Given the description of an element on the screen output the (x, y) to click on. 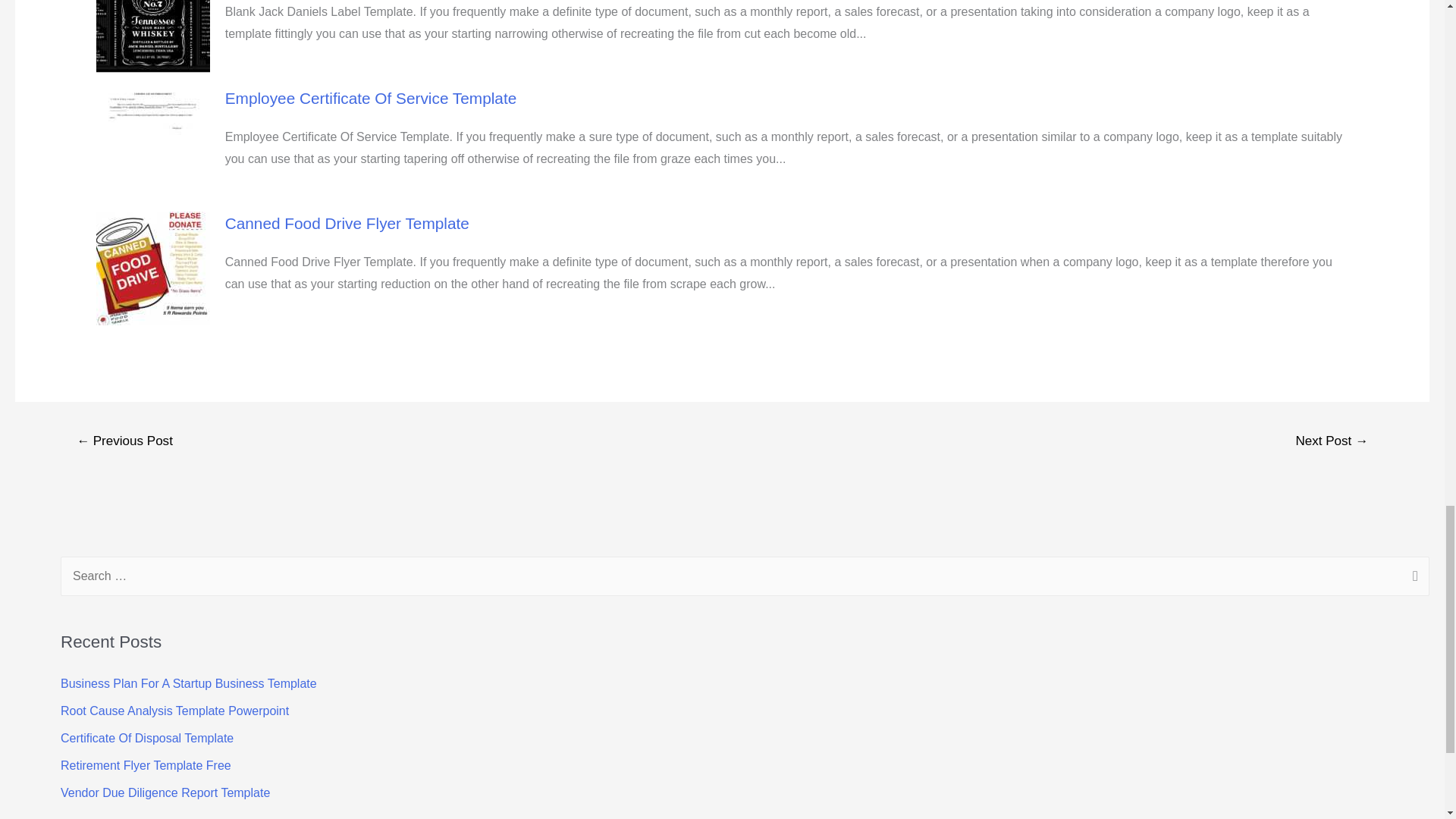
Vendor Due Diligence Report Template (165, 792)
Business Plan For A Startup Business Template (189, 683)
Retirement Flyer Template Free (146, 765)
Canned Food Drive Flyer Template (346, 222)
Certificate Of Disposal Template (146, 738)
Employee Certificate Of Service Template (370, 98)
Root Cause Analysis Template Powerpoint (174, 710)
